Given the description of an element on the screen output the (x, y) to click on. 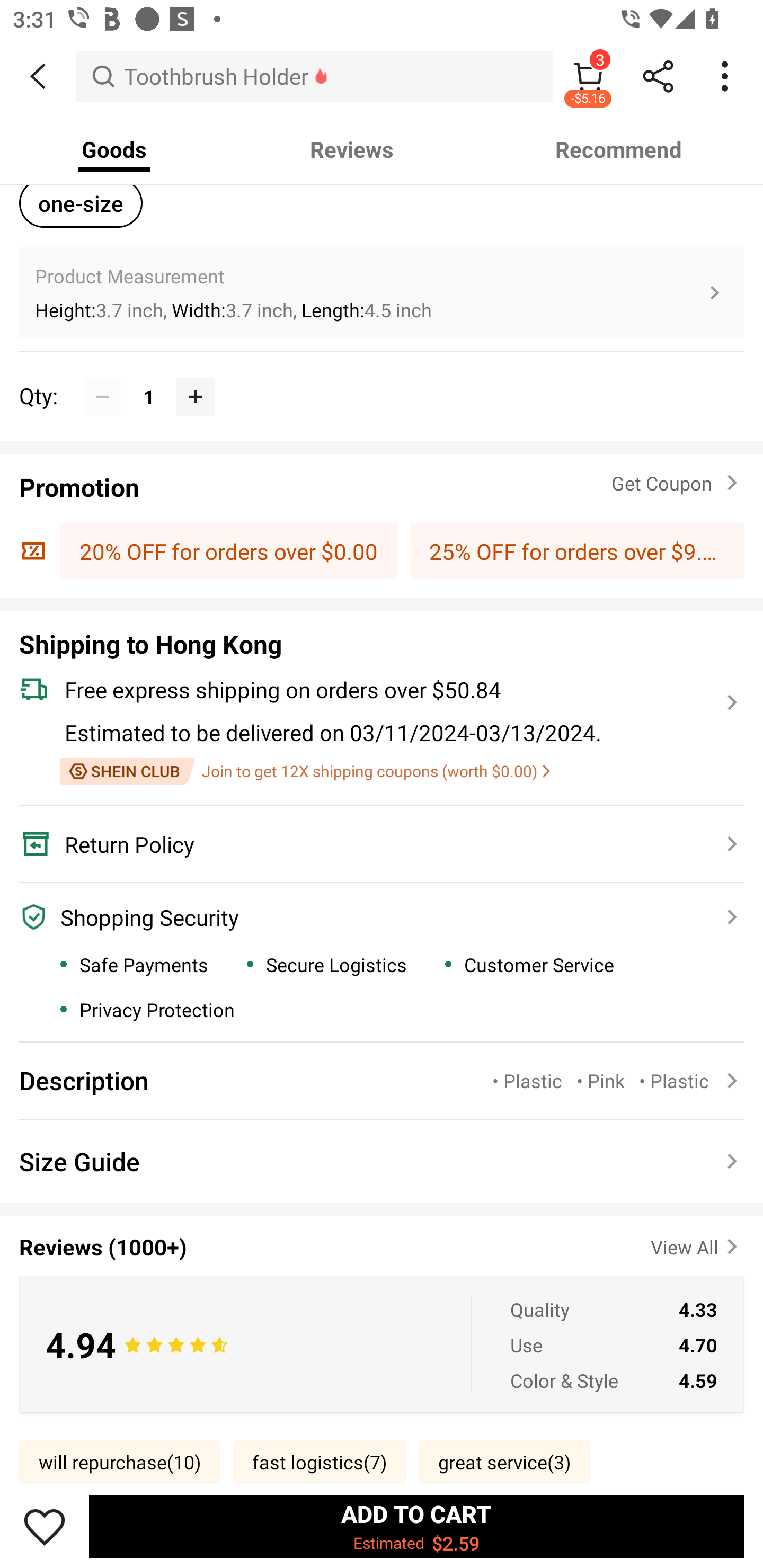
BACK (38, 75)
Pink White White (381, 76)
3 -$5.16 (588, 75)
Toothbrush Holder (314, 75)
Goods (114, 149)
Reviews (351, 149)
Recommend (618, 149)
one-size one-sizeselected option (80, 202)
Qty: 1 (381, 376)
Join to get 12X shipping coupons (worth $0.00) (305, 771)
Return Policy (370, 844)
Size Guide (381, 1160)
will repurchase(10) (119, 1461)
fast logistics(7) (319, 1461)
great service(3) (504, 1461)
ADD TO CART Estimated   $2.59 (416, 1526)
Save (44, 1526)
